Given the description of an element on the screen output the (x, y) to click on. 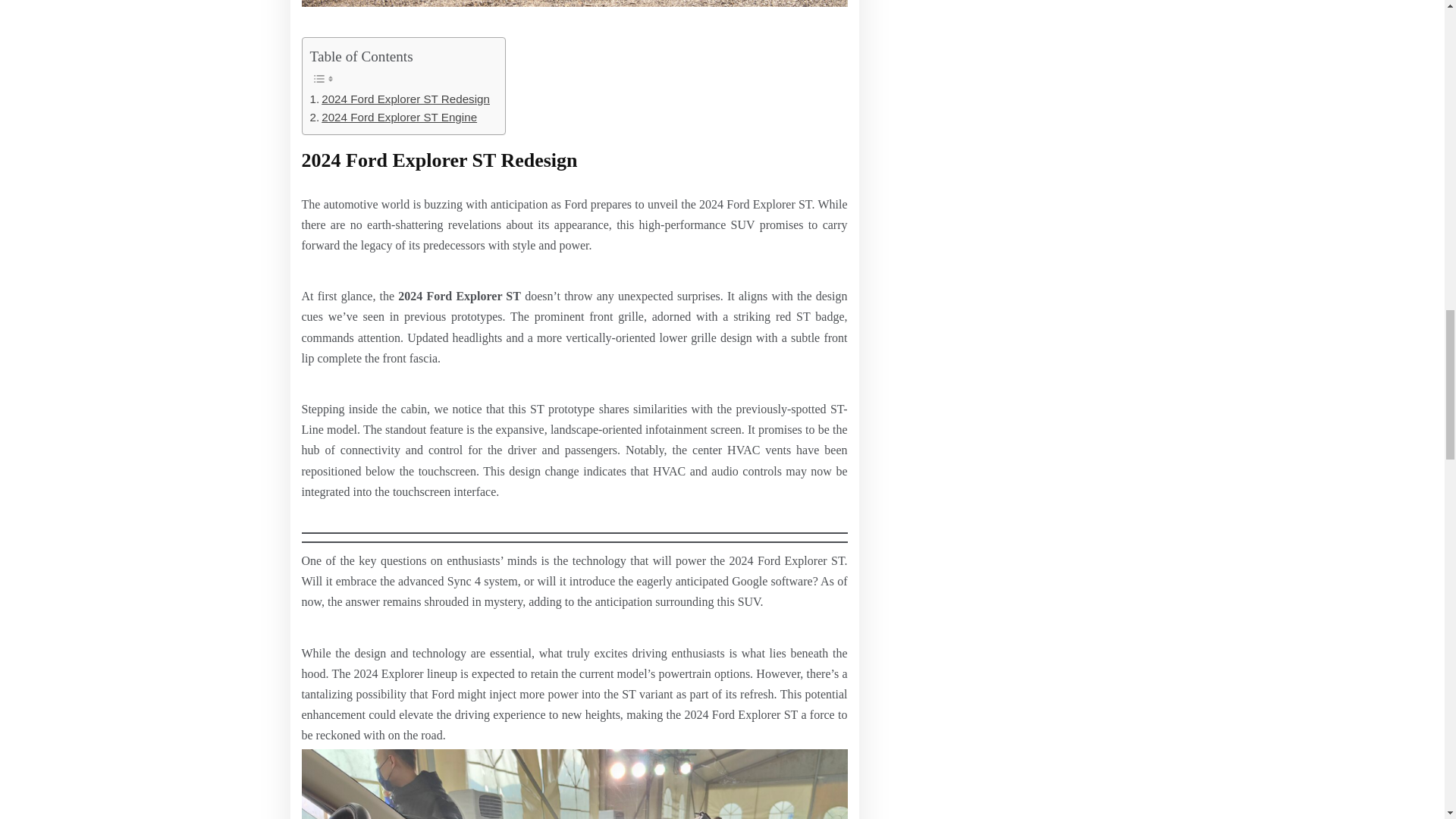
2024 Ford Explorer ST Engine (398, 99)
28 1 (392, 117)
17 (574, 3)
2024 Ford Explorer ST Redesign (574, 782)
